Given the description of an element on the screen output the (x, y) to click on. 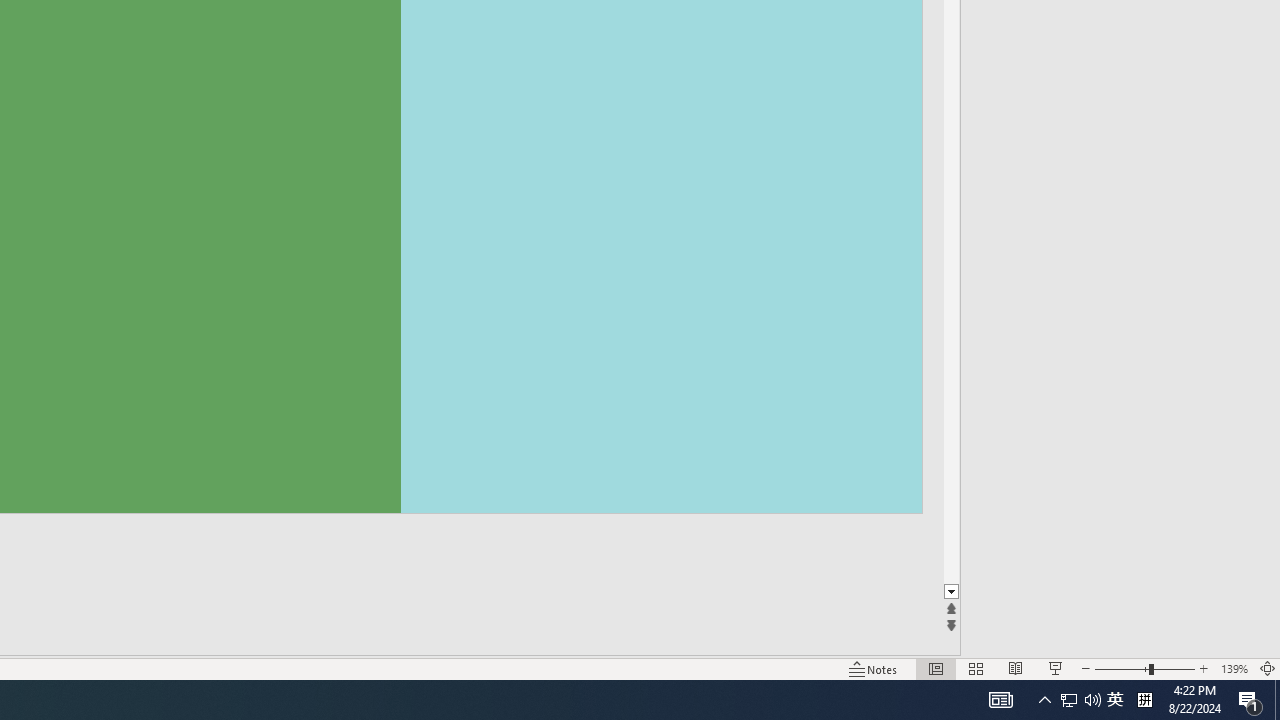
Notification Chevron (1115, 699)
Tray Input Indicator - Chinese (Simplified, China) (1044, 699)
Show desktop (1144, 699)
Action Center, 1 new notification (1277, 699)
User Promoted Notification Area (1250, 699)
